Given the description of an element on the screen output the (x, y) to click on. 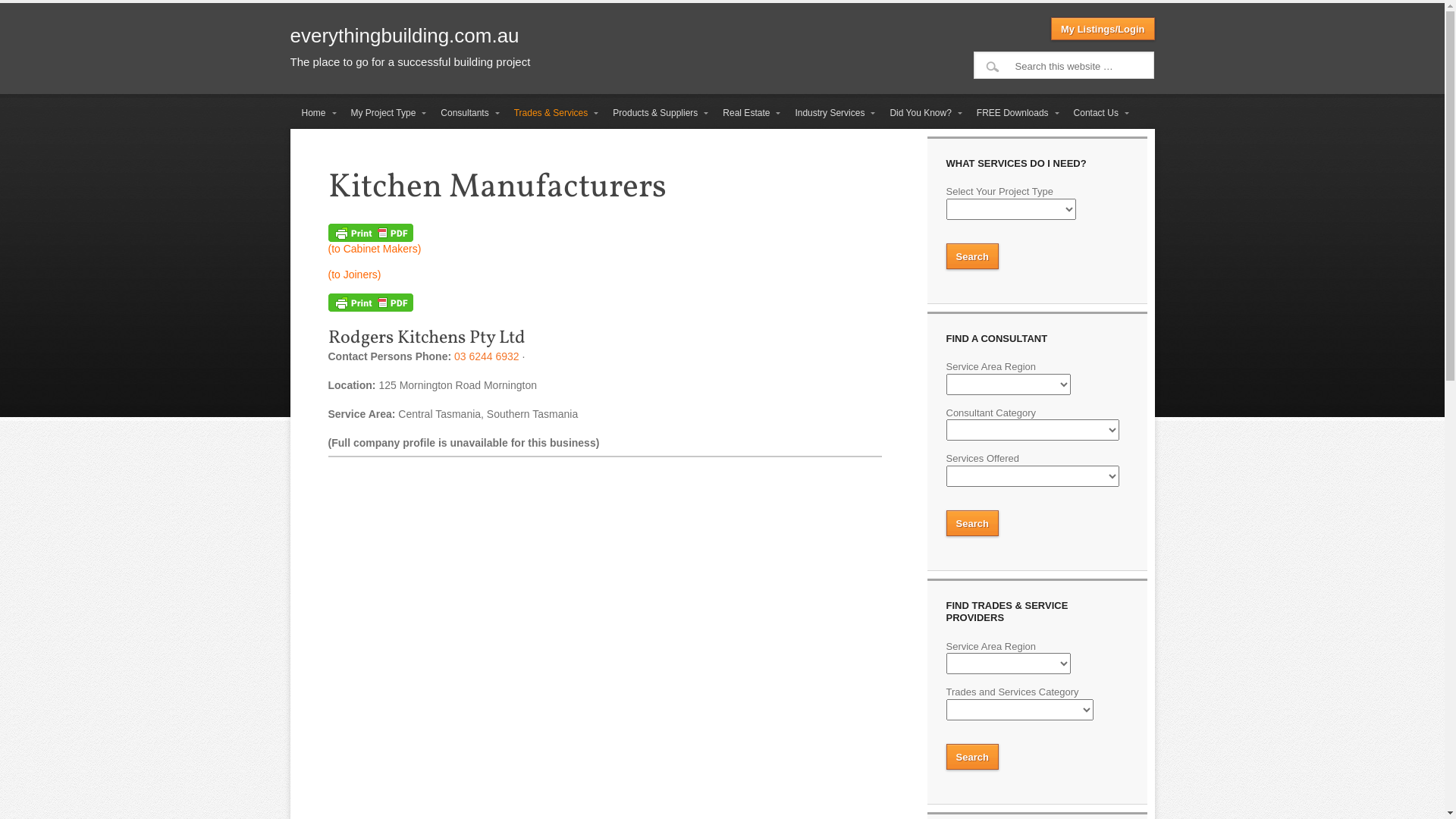
Printer Friendly, PDF & Email Element type: hover (369, 307)
Contact Us Element type: text (1097, 112)
Consultants Element type: text (465, 112)
Real Estate Element type: text (747, 112)
Printer Friendly, PDF & Email Element type: hover (369, 238)
Search Element type: text (26, 12)
Products & Suppliers Element type: text (656, 112)
Did You Know? Element type: text (921, 112)
Search Element type: text (972, 523)
everythingbuilding.com.au Element type: text (403, 35)
FREE Downloads Element type: text (1013, 112)
My Project Type Element type: text (384, 112)
Search Element type: text (972, 756)
(to Cabinet Makers) Element type: text (373, 248)
(to Joiners) Element type: text (353, 274)
Home Element type: text (313, 112)
Search Element type: text (972, 256)
My Listings/Login Element type: text (1102, 28)
Trades & Services Element type: text (552, 112)
Industry Services Element type: text (830, 112)
03 6244 6932 Element type: text (486, 356)
